Given the description of an element on the screen output the (x, y) to click on. 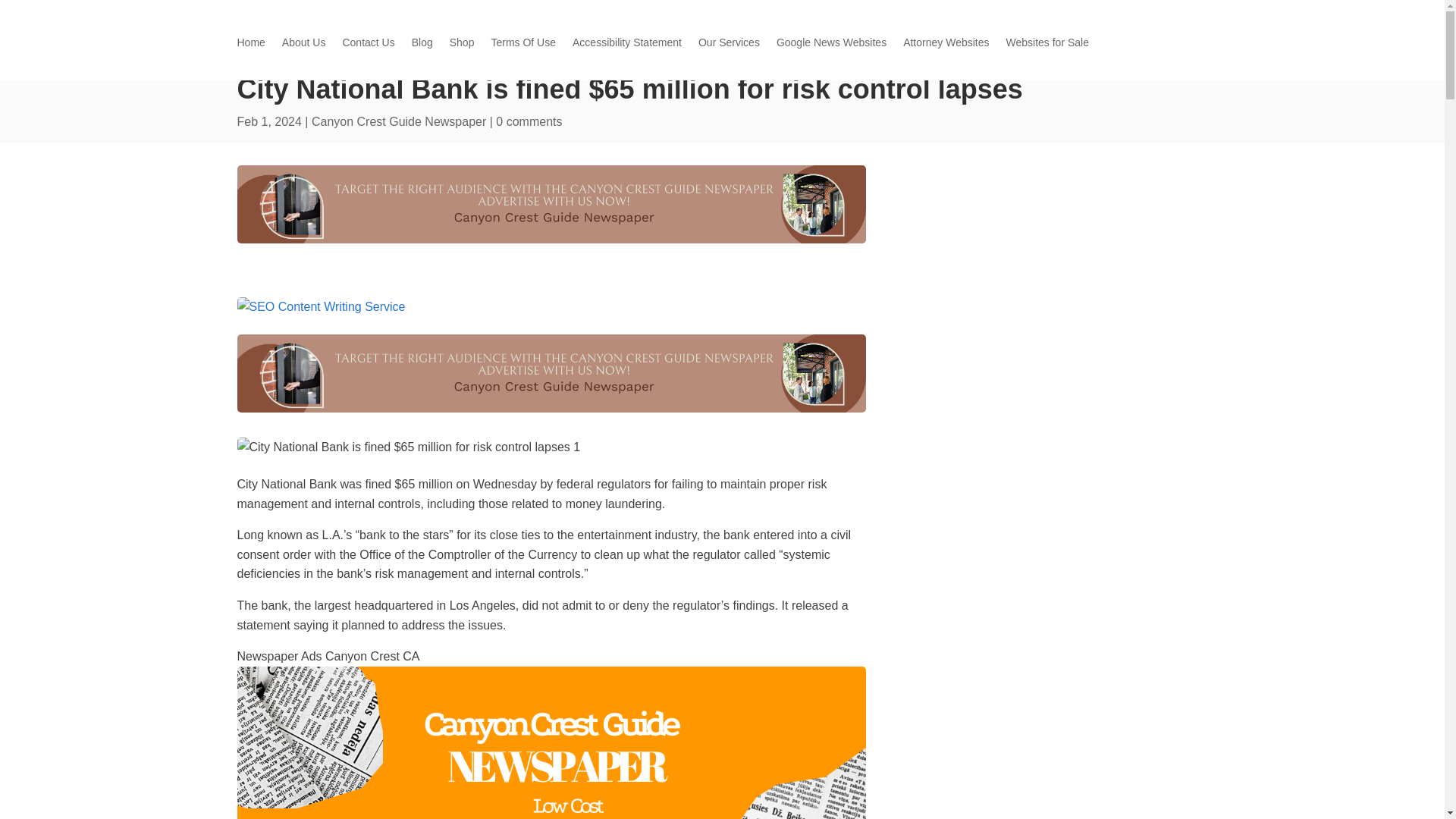
Canyon Crest Guide Newspaper (398, 121)
Terms Of Use (523, 45)
Websites for Sale (1046, 45)
0 comments (529, 121)
Attorney Websites (945, 45)
About Us (304, 45)
Shop (461, 45)
Home (249, 45)
Our Services (729, 45)
Accessibility Statement (626, 45)
Blog (422, 45)
Google News Websites (831, 45)
Contact Us (368, 45)
